Given the description of an element on the screen output the (x, y) to click on. 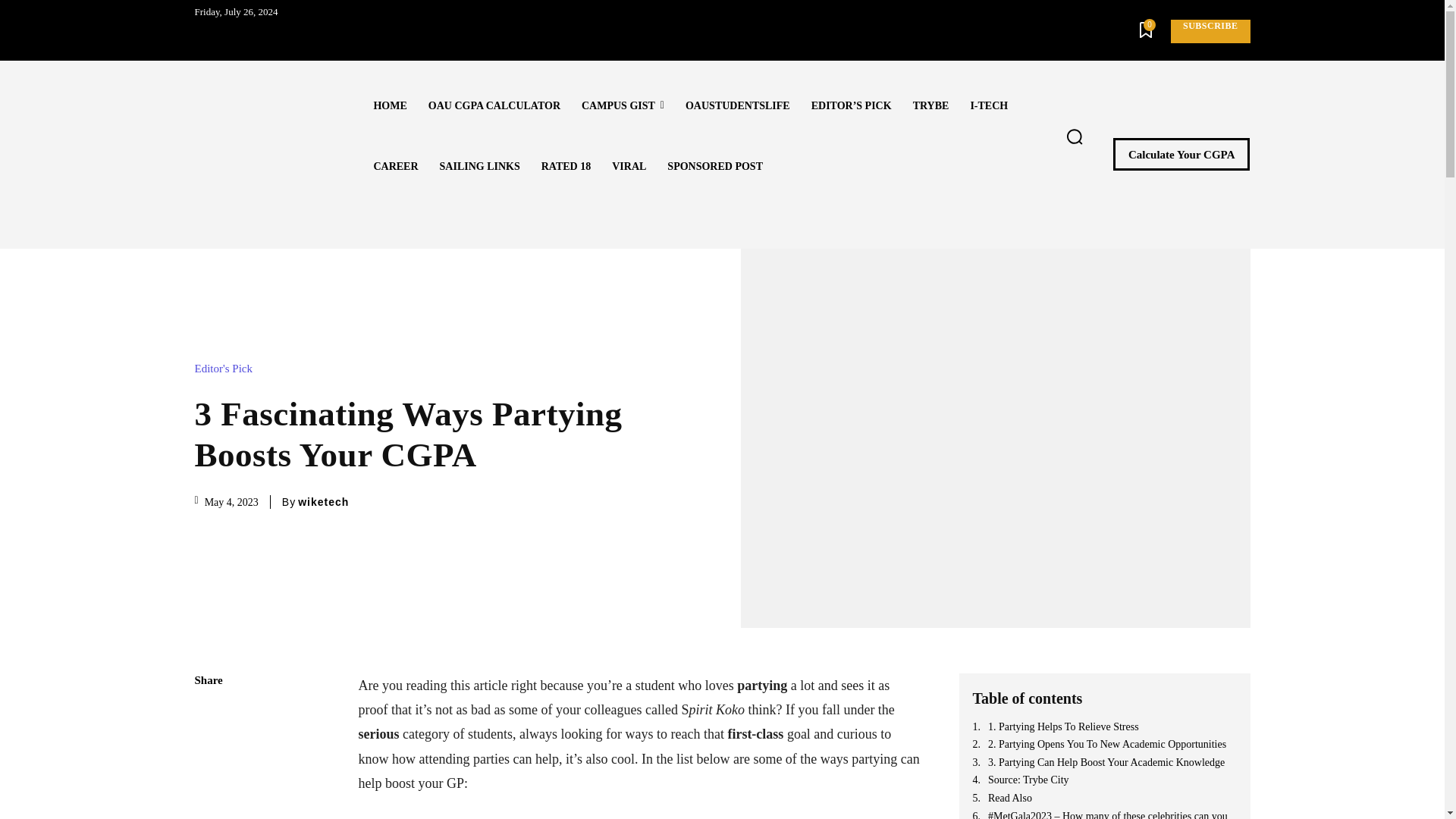
Calculate Your CGPA  (1181, 154)
CAMPUS GIST (622, 106)
SUBSCRIBE (1210, 31)
HOME (389, 106)
Subscribe (1210, 31)
OAU CGPA CALCULATOR (493, 106)
OAUSTUDENTSLIFE (737, 106)
